Given the description of an element on the screen output the (x, y) to click on. 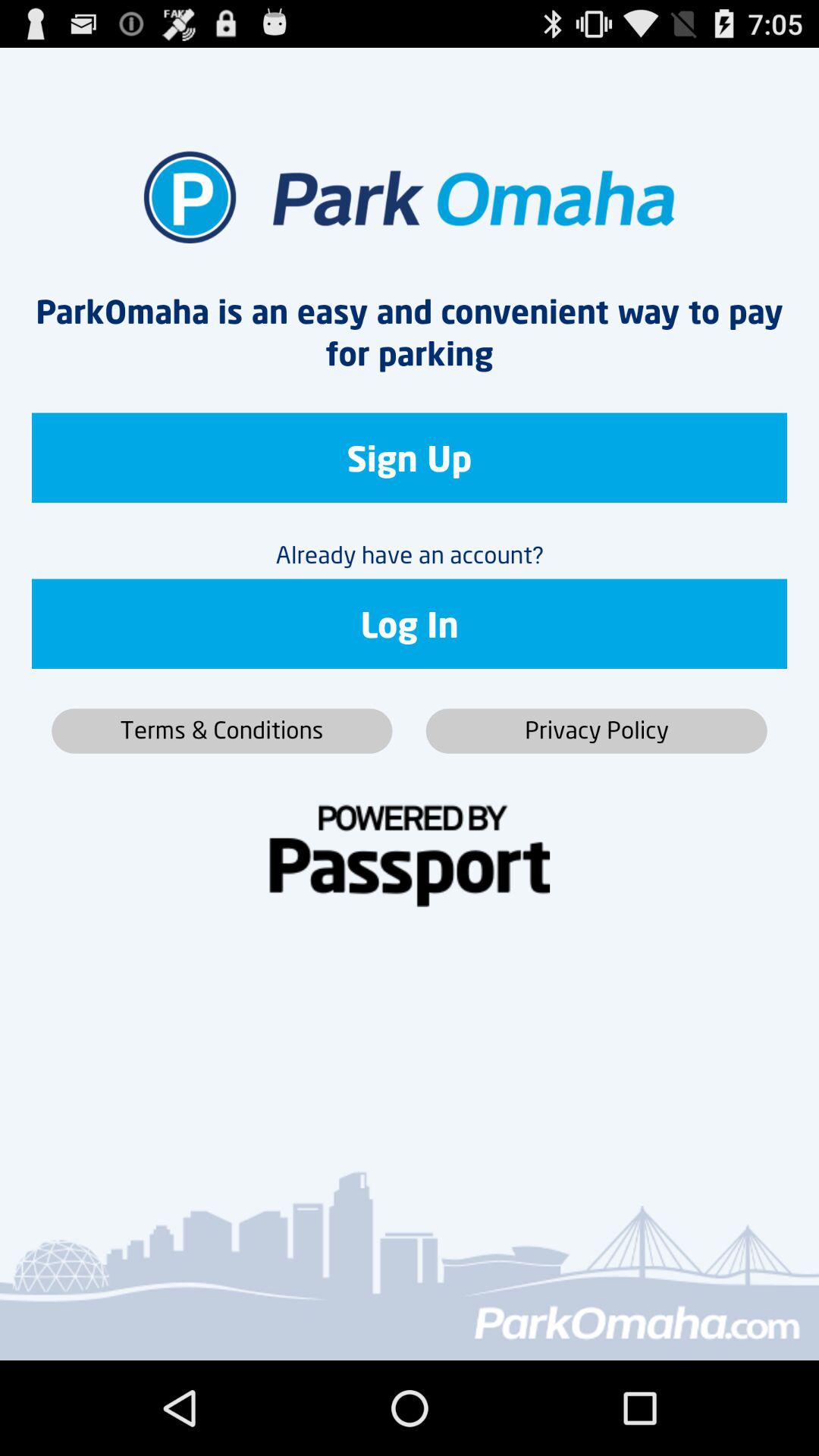
tap button below log in icon (596, 730)
